Given the description of an element on the screen output the (x, y) to click on. 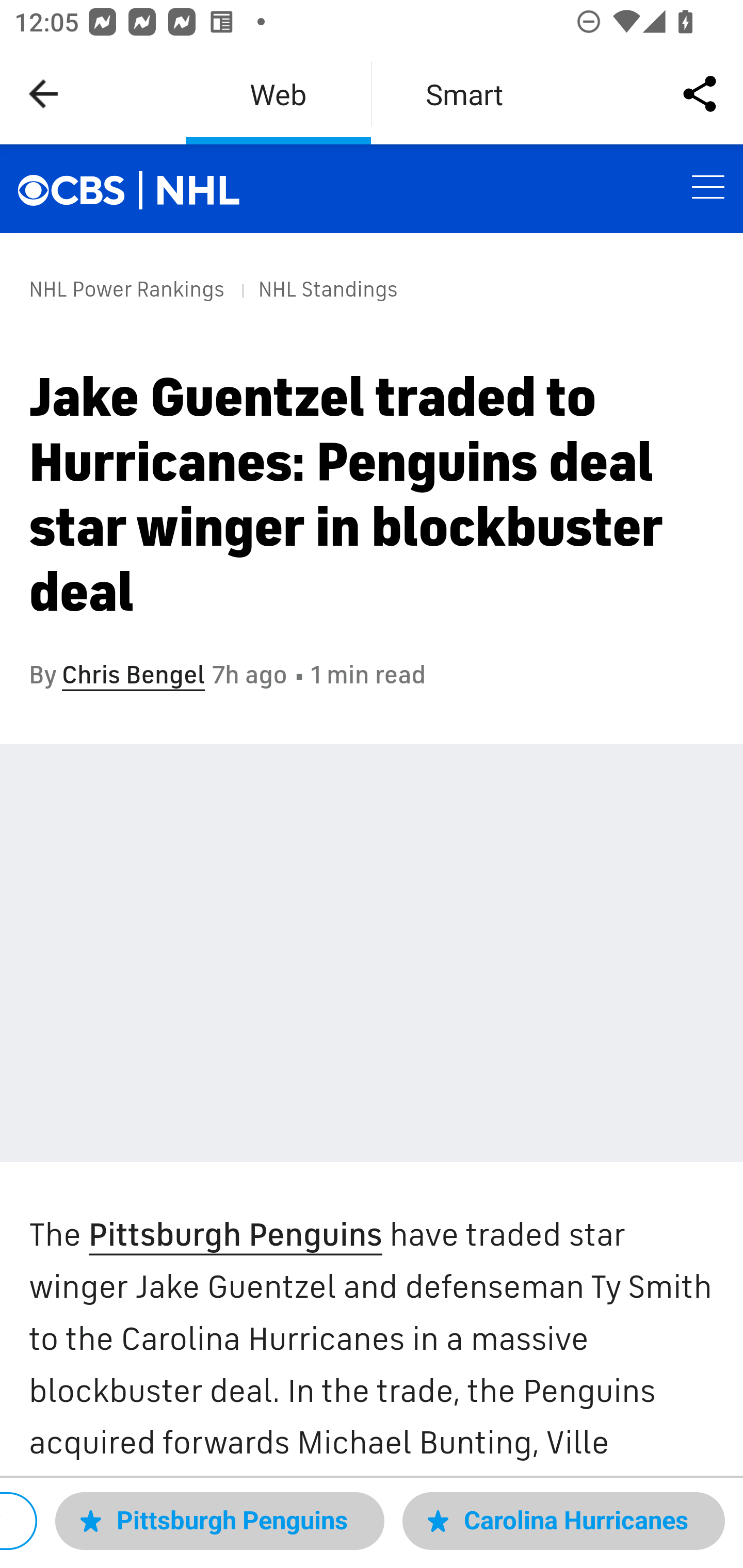
Web (277, 93)
Smart (464, 93)
 (81, 187)
 (199, 189)
NHL Power Rankings (126, 289)
NHL Standings (327, 289)
Chris Bengel (133, 674)
Pittsburgh Penguins (234, 1235)
Pittsburgh Penguins (219, 1520)
Carolina Hurricanes (563, 1520)
